Given the description of an element on the screen output the (x, y) to click on. 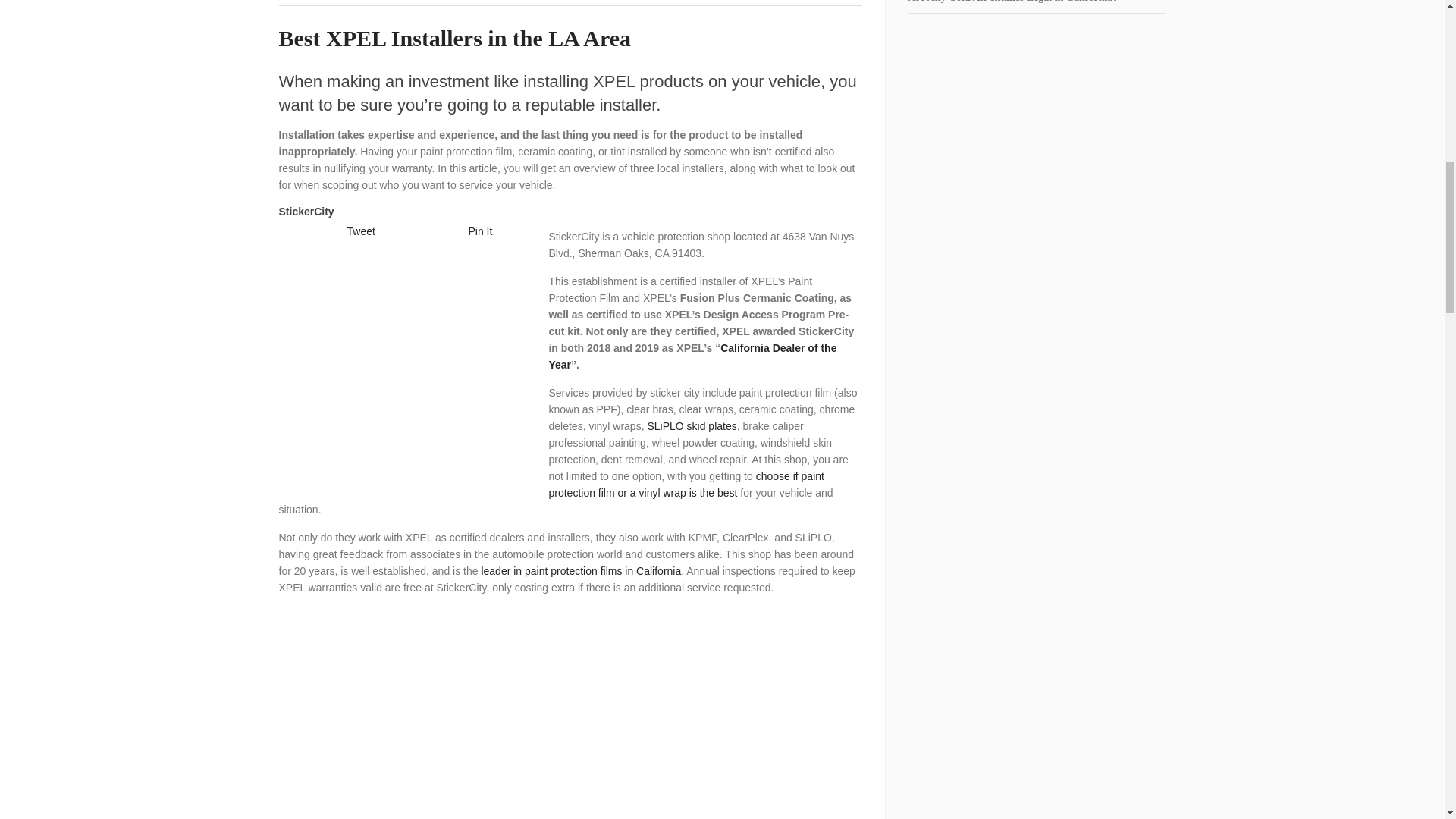
California Dealer of the Year (691, 356)
SLiPLO skid plates (690, 426)
choose if paint protection film or a vinyl wrap is the best (686, 484)
leader in paint protection films in California (580, 571)
